Given the description of an element on the screen output the (x, y) to click on. 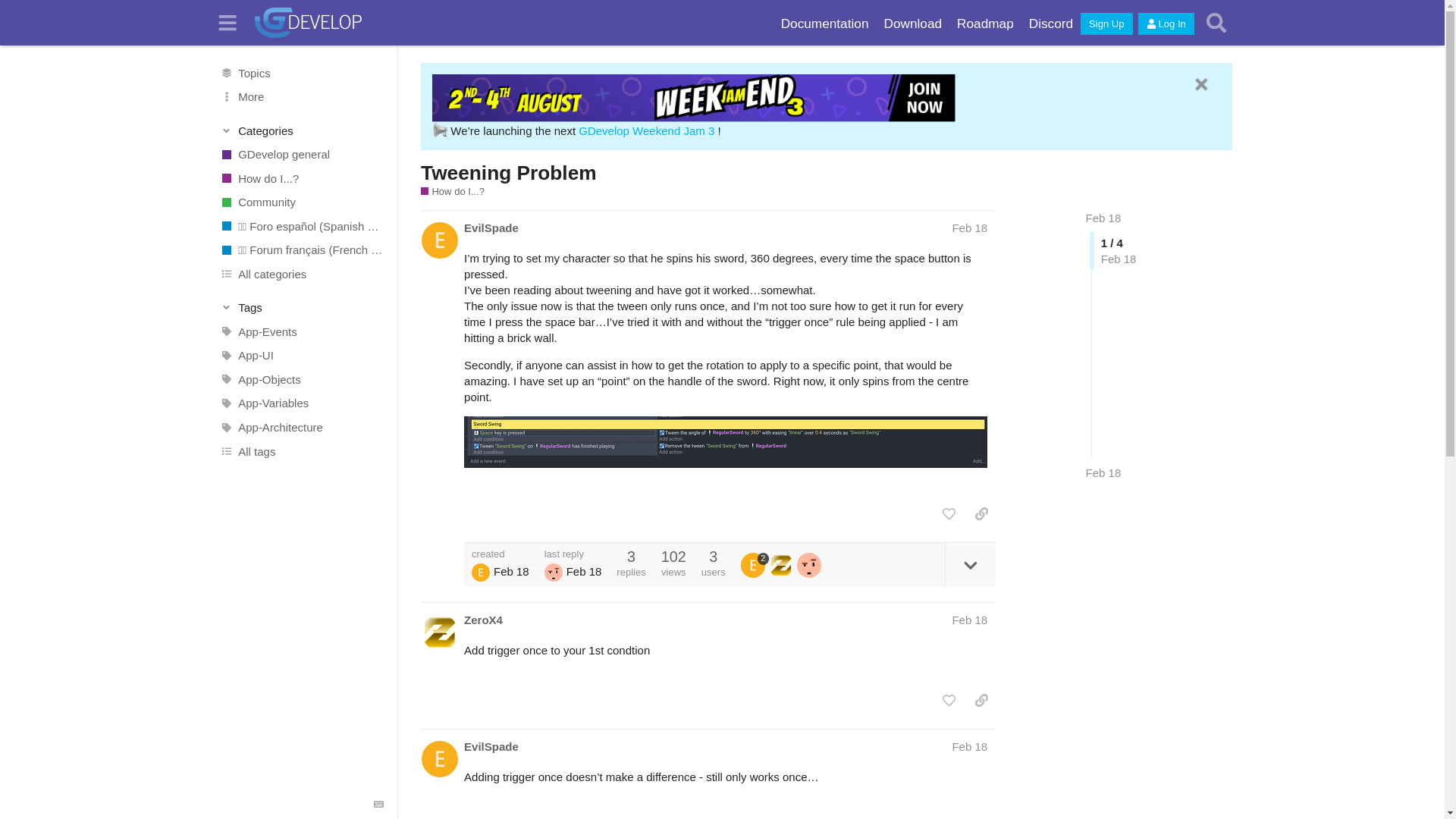
App-UI (301, 355)
App-Variables (301, 403)
GDevelop Weekend Jam 3 (646, 130)
EvilSpade (491, 227)
How do I...? (301, 178)
App-Objects (301, 379)
Discord (1051, 23)
Download (912, 23)
Search (1215, 22)
Feb 18 (1103, 472)
Roadmap (985, 23)
Community (301, 202)
Forums for users and discussions in French. (301, 250)
Toggle section (301, 307)
Feb 18 (969, 227)
